Given the description of an element on the screen output the (x, y) to click on. 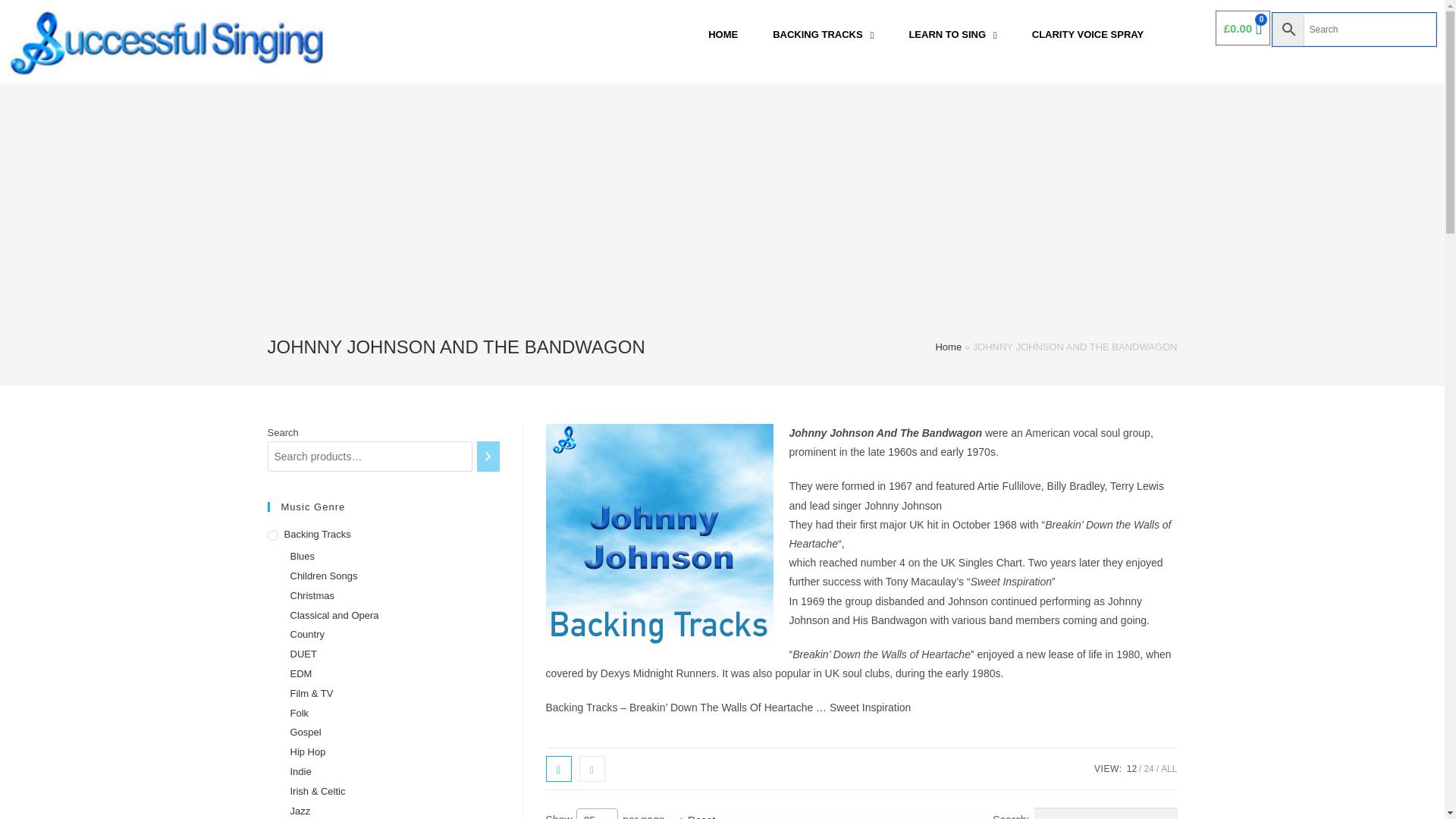
HOME (722, 34)
25 (596, 814)
Grid view (559, 768)
LEARN TO SING (952, 34)
List view (592, 768)
BACKING TRACKS (822, 34)
